Given the description of an element on the screen output the (x, y) to click on. 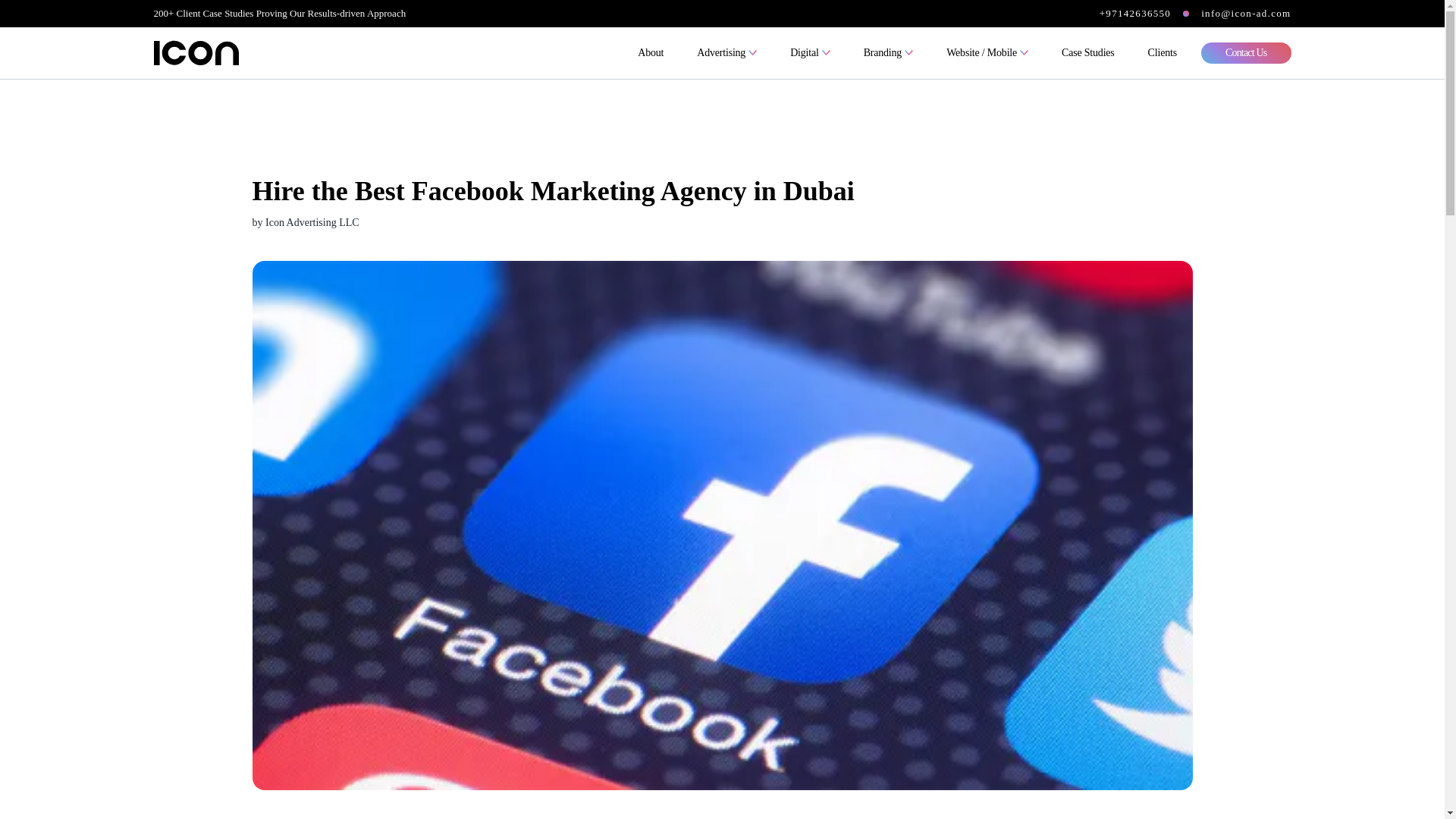
Contact Us (1246, 52)
